Given the description of an element on the screen output the (x, y) to click on. 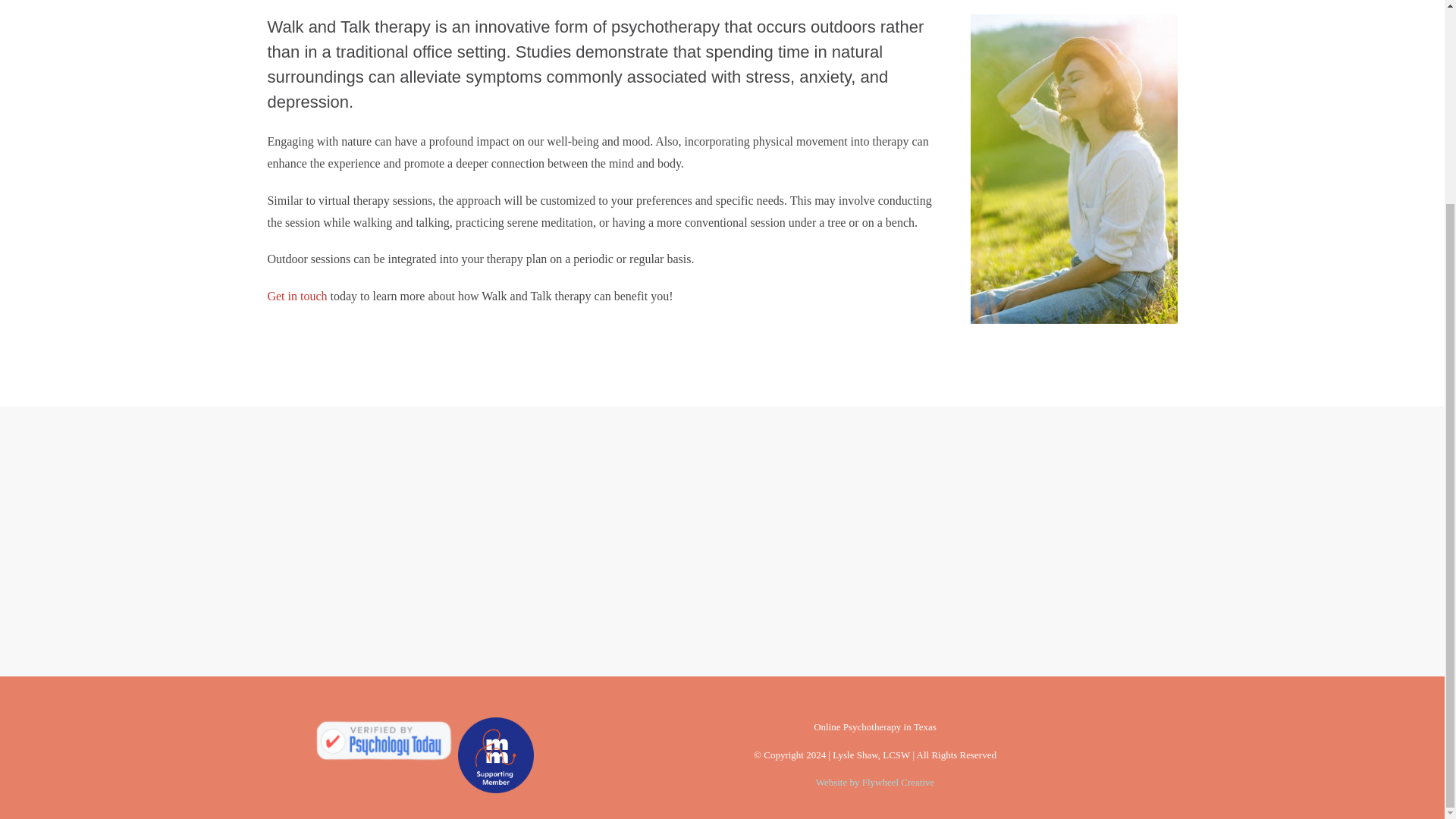
Website by Flywheel Creative (874, 781)
Get in touch (296, 295)
